Given the description of an element on the screen output the (x, y) to click on. 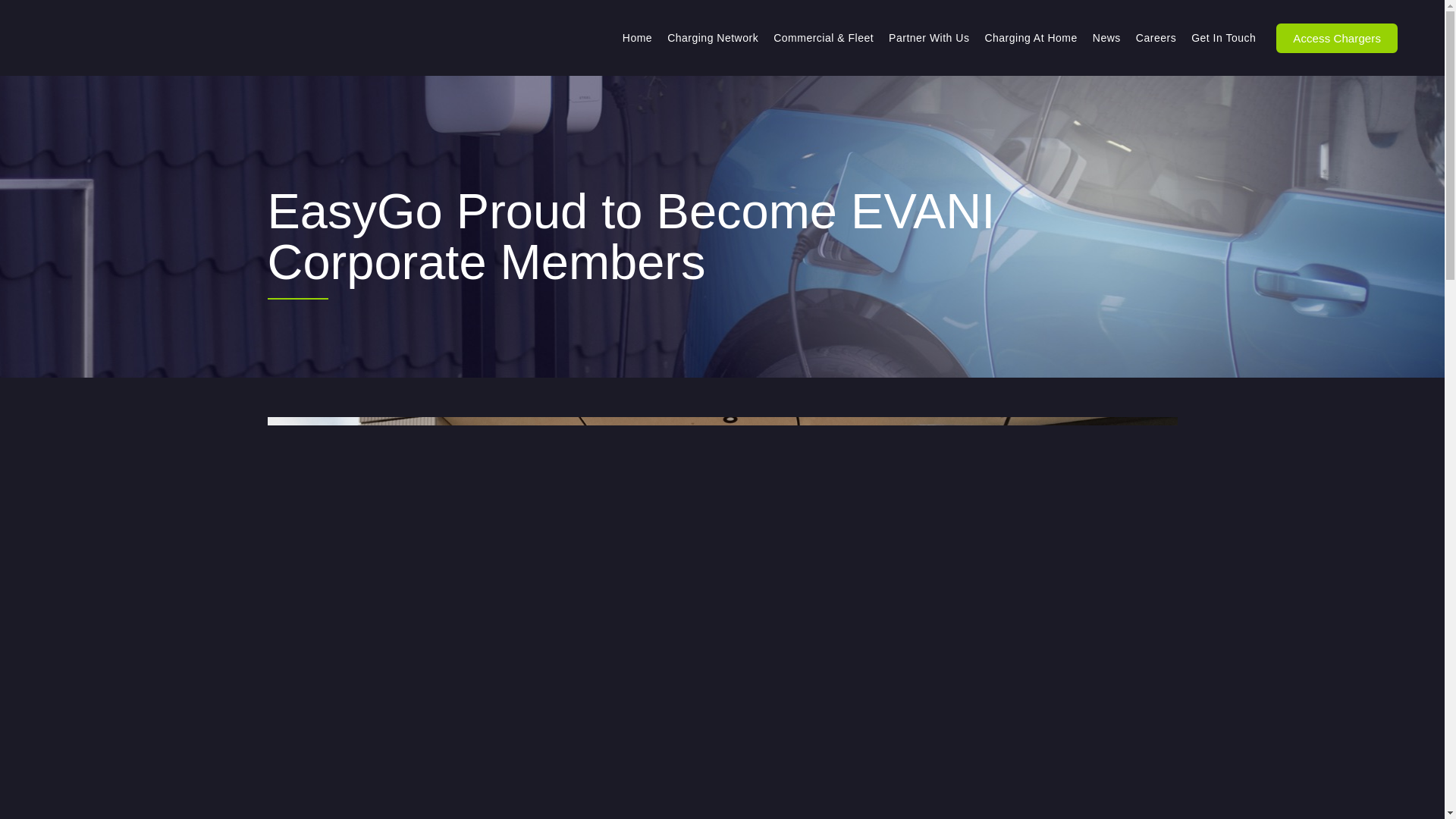
Charging At Home (1030, 38)
Partner With Us (928, 38)
Access Chargers (1336, 37)
Charging Network (712, 38)
Get In Touch (1223, 38)
